Given the description of an element on the screen output the (x, y) to click on. 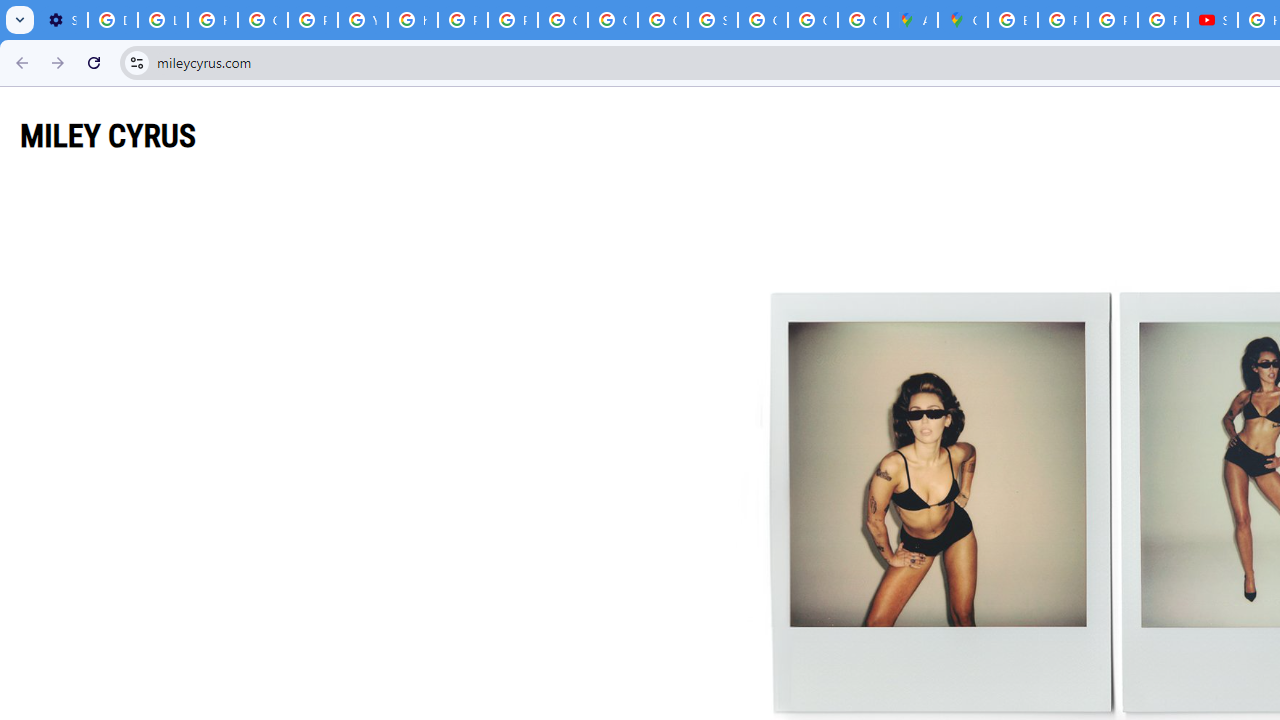
Privacy Help Center - Policies Help (462, 20)
YouTube (362, 20)
Google Maps (963, 20)
Privacy Help Center - Policies Help (1062, 20)
Learn how to find your photos - Google Photos Help (163, 20)
MILEY CYRUS (107, 135)
